Given the description of an element on the screen output the (x, y) to click on. 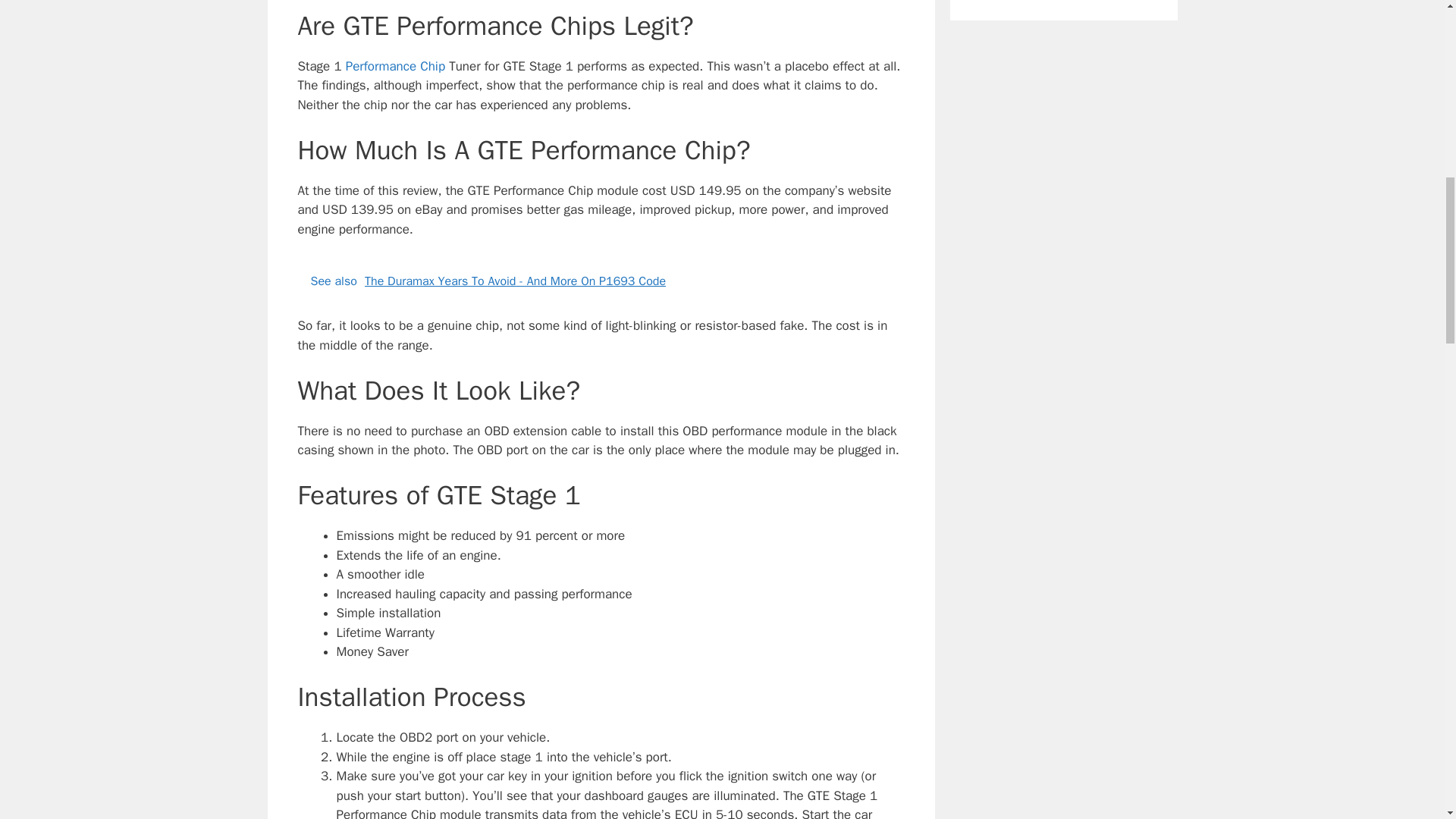
Performance Chip (395, 66)
